Given the description of an element on the screen output the (x, y) to click on. 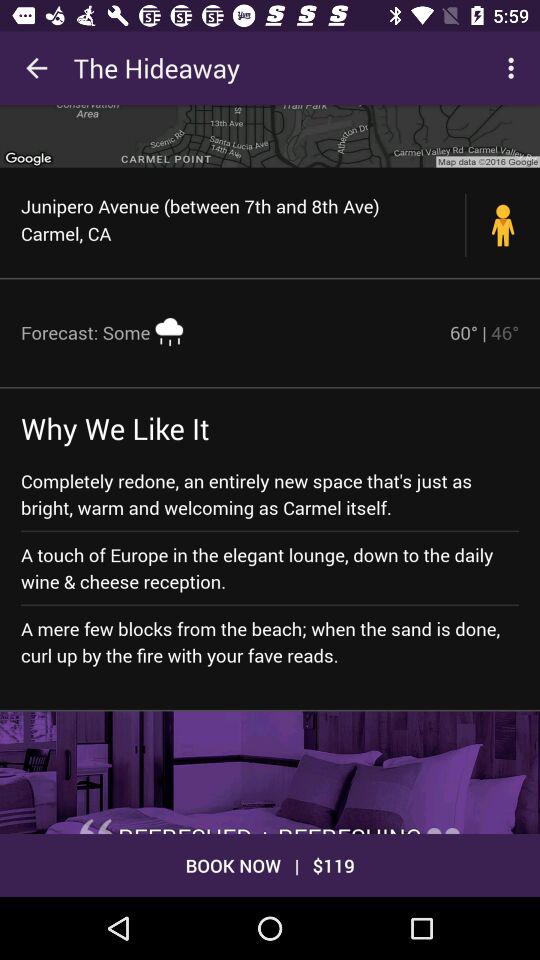
jump to book now   |   $119 icon (270, 864)
